Given the description of an element on the screen output the (x, y) to click on. 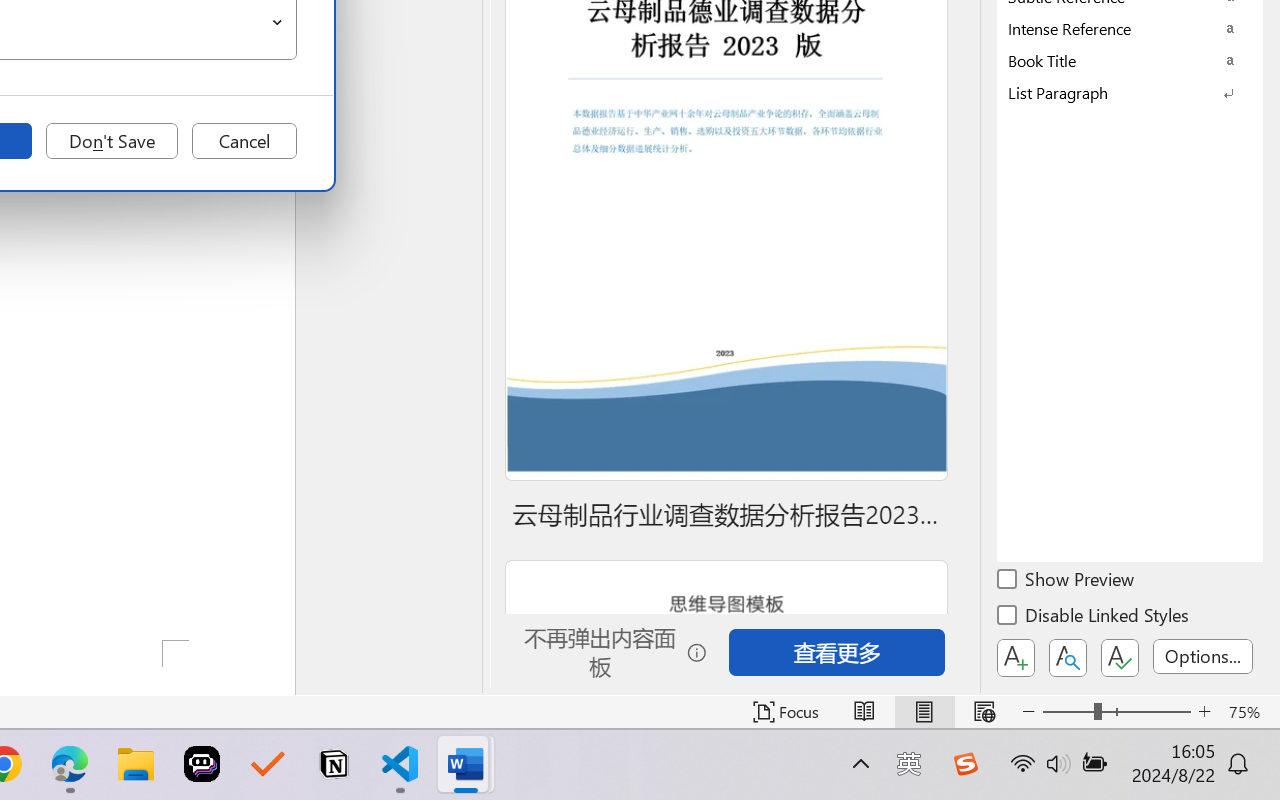
Class: Image (965, 764)
Zoom (1116, 712)
Read Mode (864, 712)
Web Layout (984, 712)
Cancel (244, 141)
Book Title (1130, 60)
Class: NetUIImage (1116, 92)
Zoom Out (1067, 712)
